Given the description of an element on the screen output the (x, y) to click on. 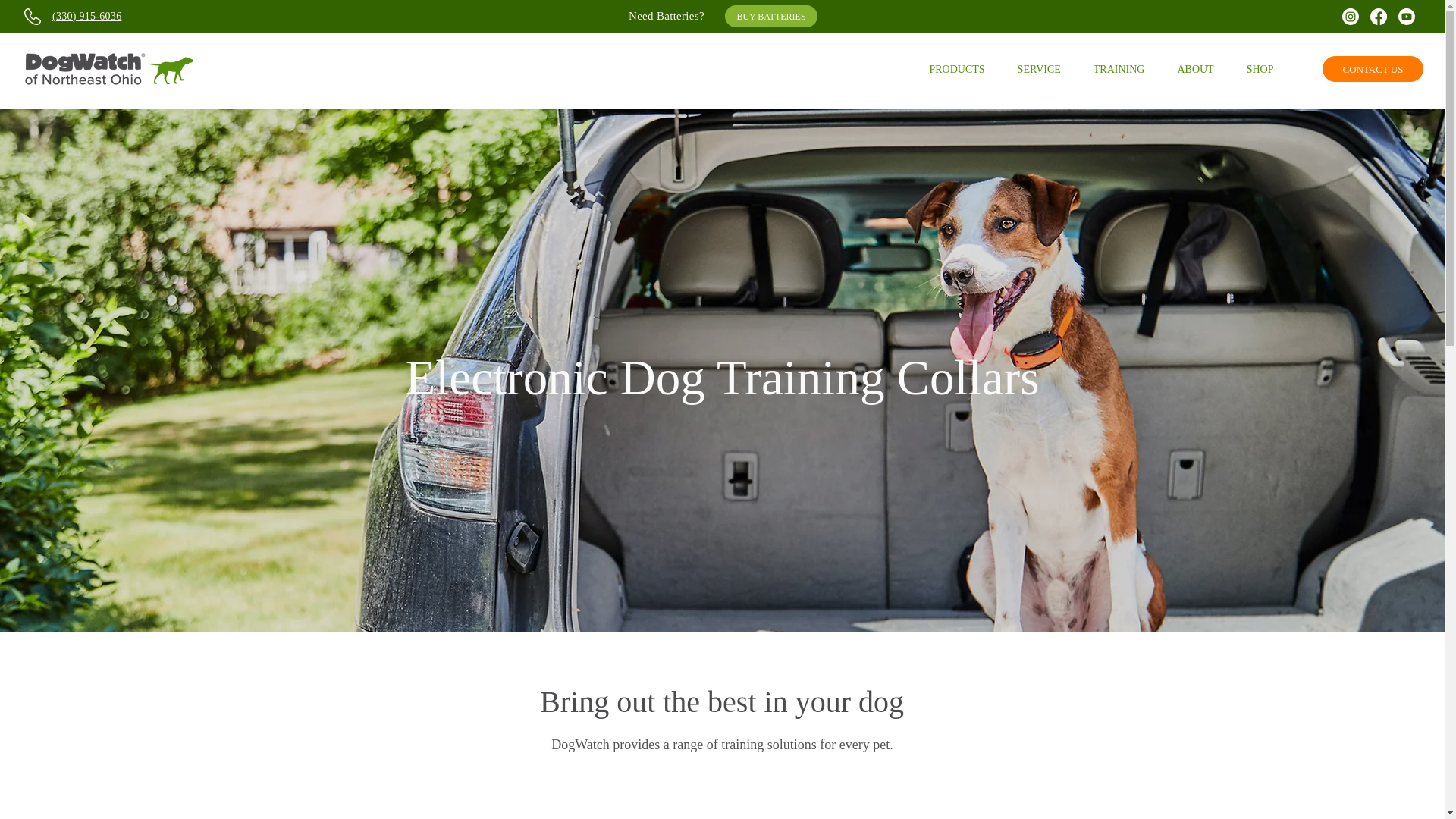
TRAINING (1118, 69)
CONTACT US (1372, 68)
BUY BATTERIES (770, 15)
SHOP (1260, 69)
SERVICE (1039, 69)
